Given the description of an element on the screen output the (x, y) to click on. 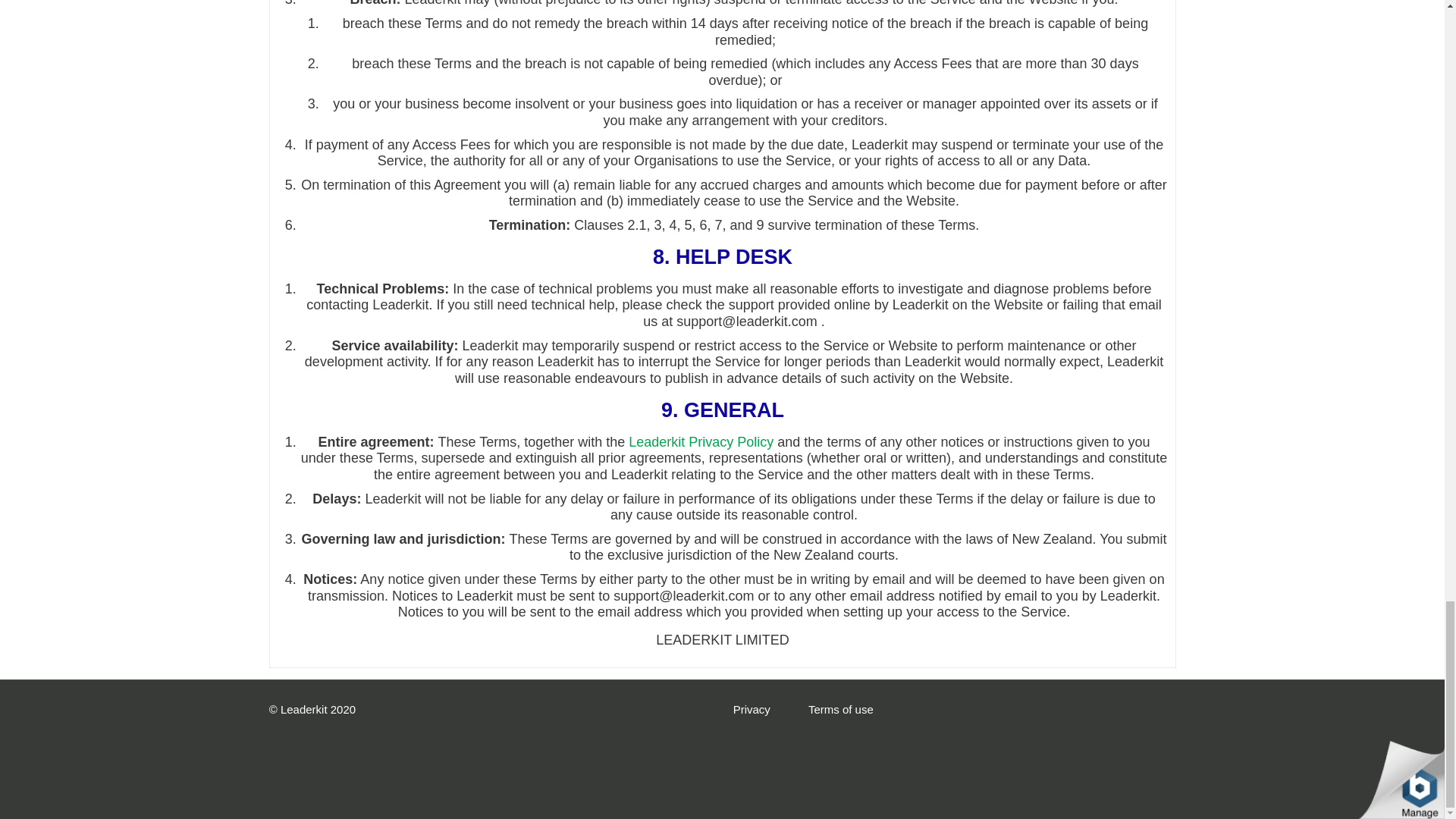
Leaderkit Privacy Policy (700, 441)
Privacy (751, 708)
Terms of use (840, 708)
